Given the description of an element on the screen output the (x, y) to click on. 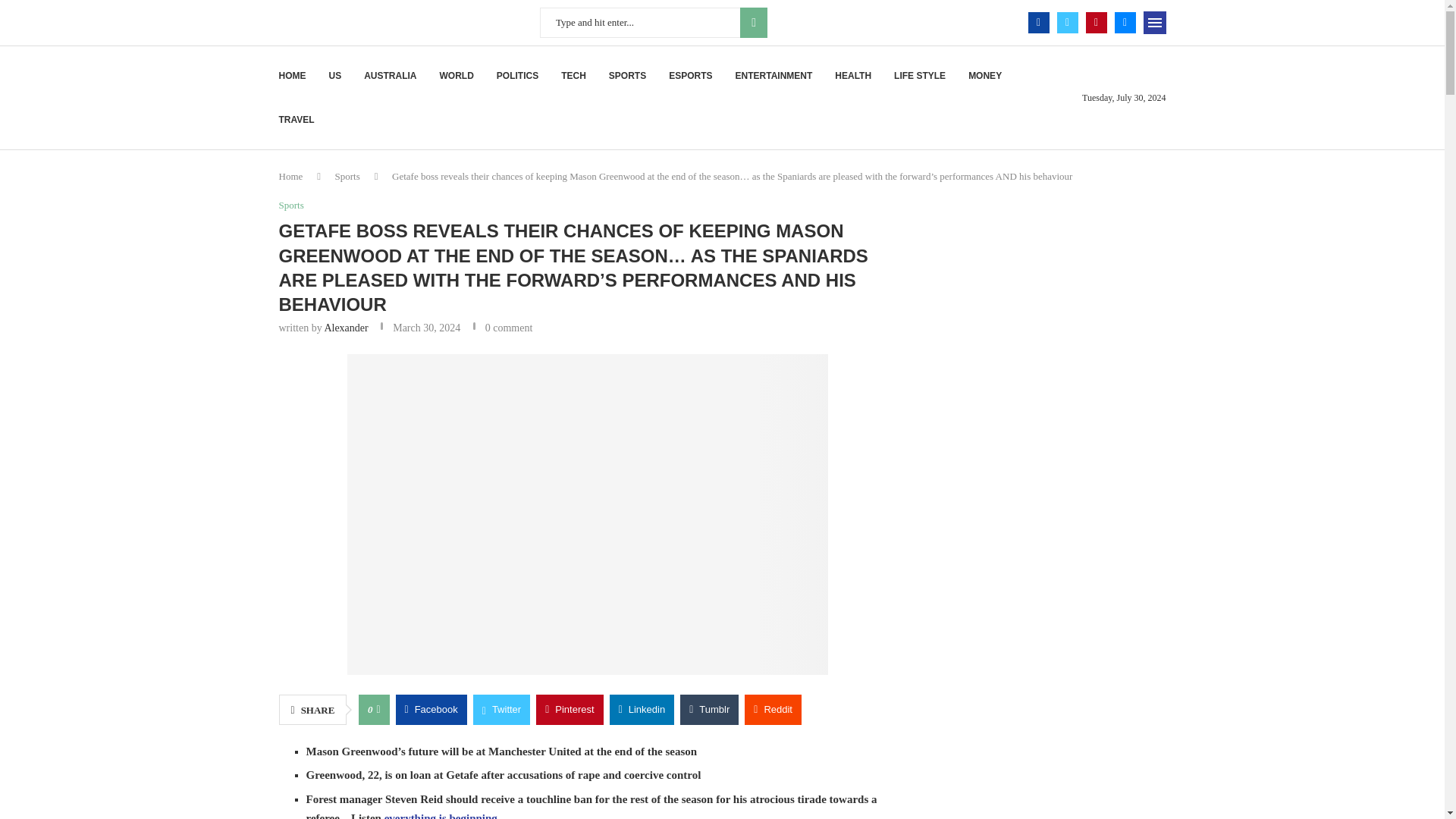
AUSTRALIA (390, 75)
ENTERTAINMENT (773, 75)
SPORTS (627, 75)
US (335, 75)
POLITICS (517, 75)
LIFE STYLE (918, 75)
TRAVEL (296, 119)
SEARCH (753, 22)
HEALTH (852, 75)
MONEY (984, 75)
HOME (292, 75)
ESPORTS (689, 75)
WORLD (456, 75)
Like (377, 709)
